Given the description of an element on the screen output the (x, y) to click on. 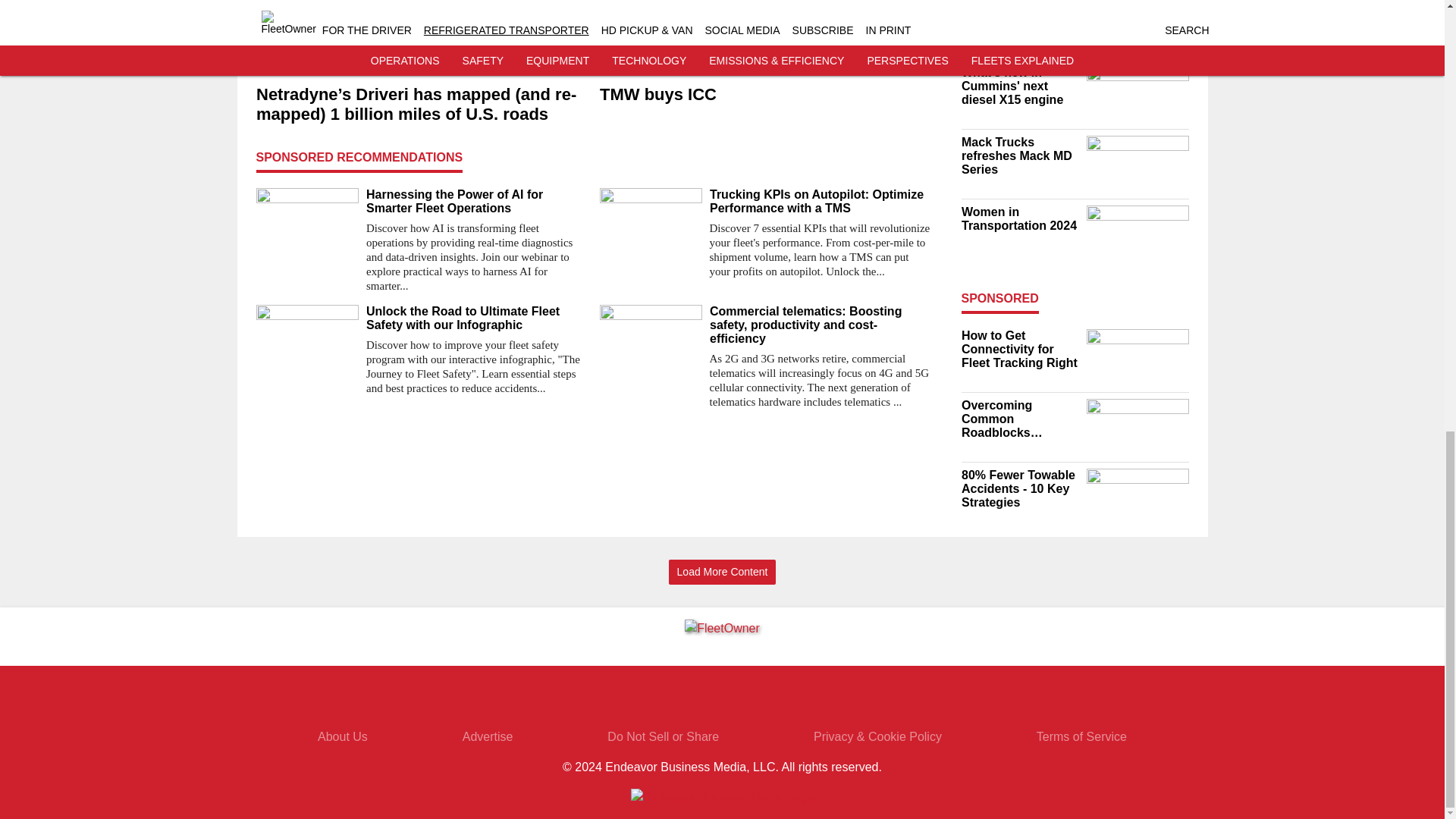
Harnessing the Power of AI for Smarter Fleet Operations (476, 201)
TMW buys ICC (764, 95)
Trucking KPIs on Autopilot: Optimize Performance with a TMS (820, 201)
